Given the description of an element on the screen output the (x, y) to click on. 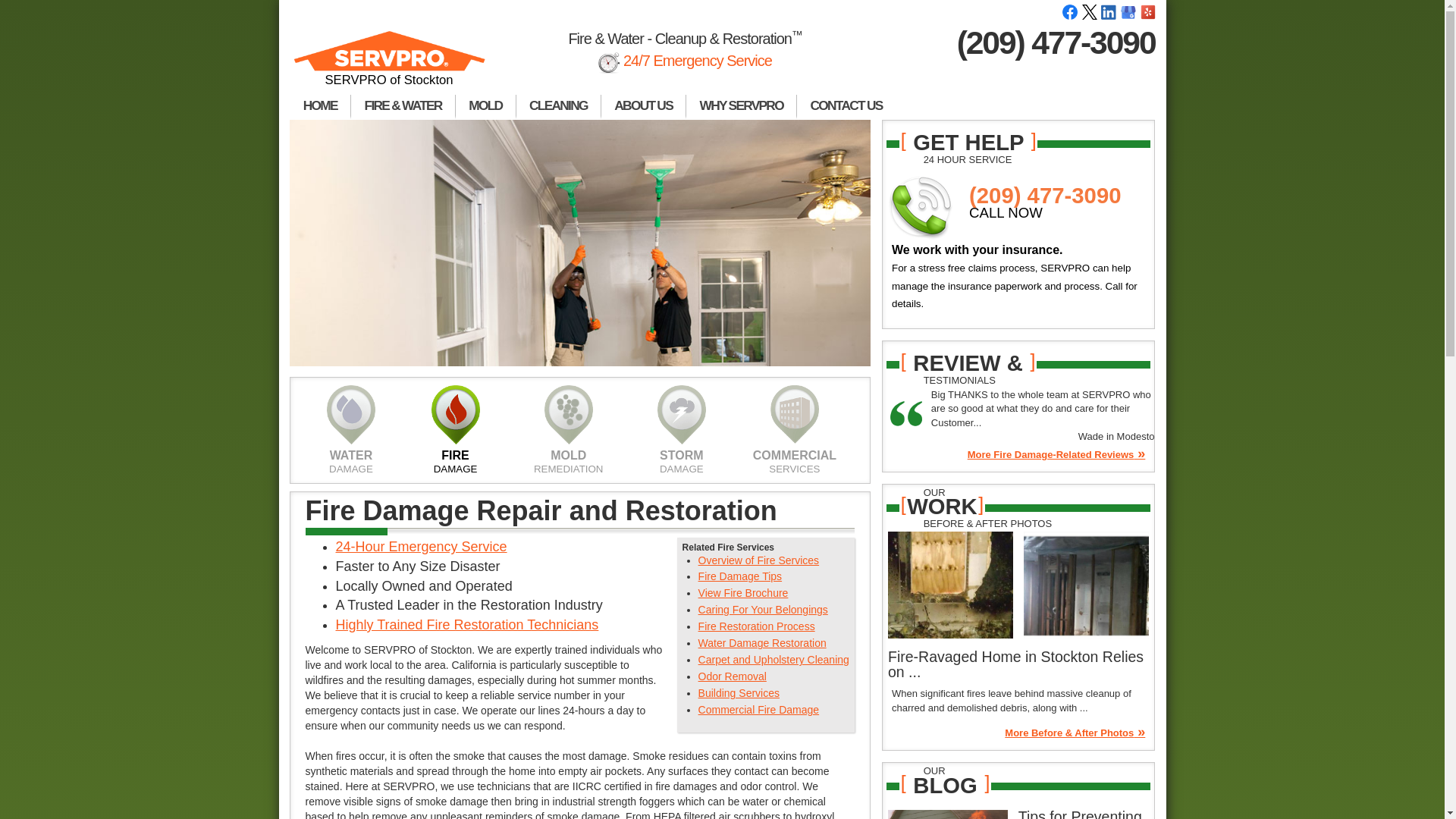
ABOUT US (643, 106)
MOLD (485, 106)
HOME (319, 106)
CLEANING (558, 106)
SERVPRO of Stockton (389, 64)
